Given the description of an element on the screen output the (x, y) to click on. 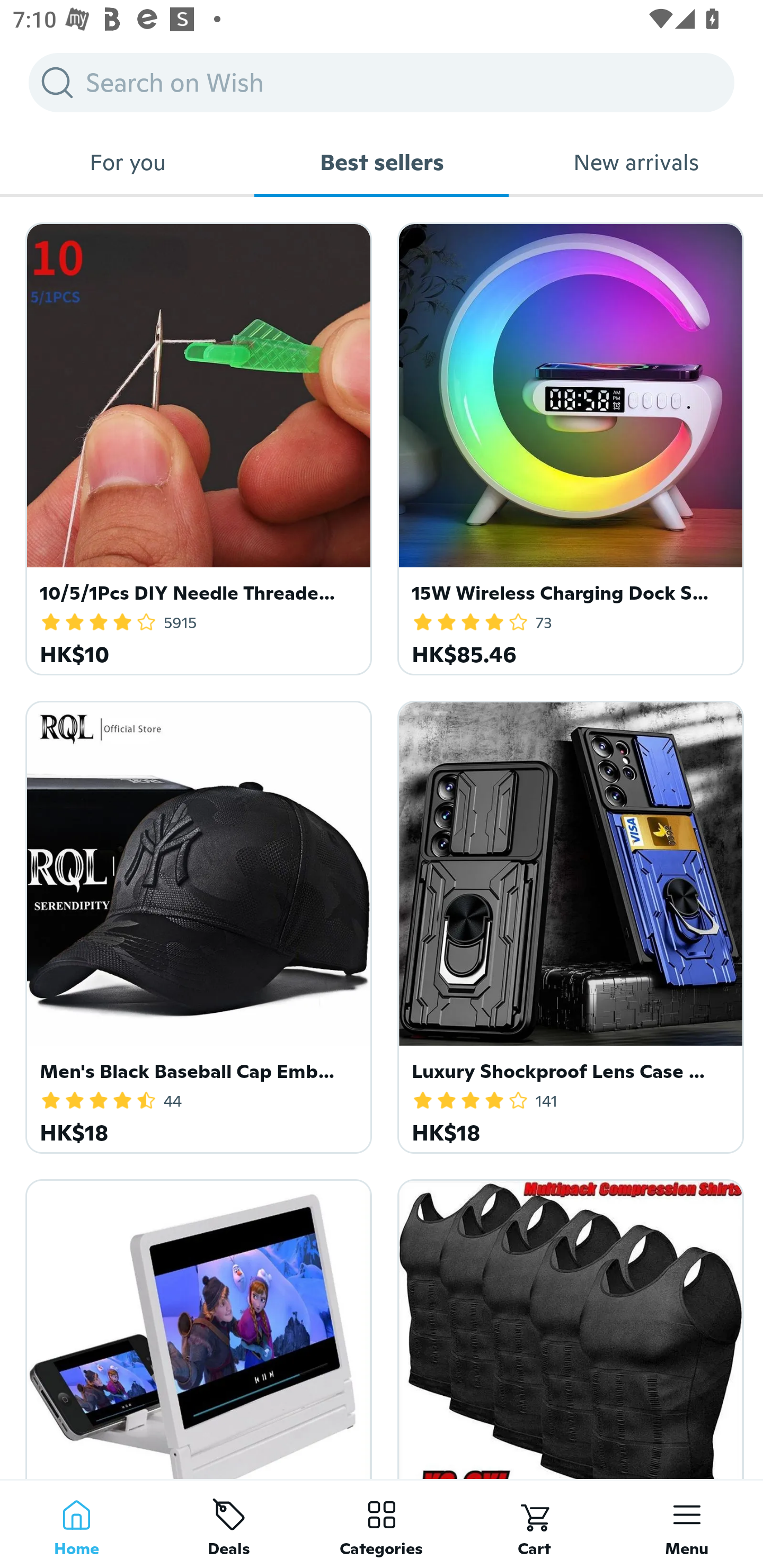
Search on Wish (381, 82)
For you (127, 161)
Best sellers (381, 161)
New arrivals (635, 161)
Home (76, 1523)
Deals (228, 1523)
Categories (381, 1523)
Cart (533, 1523)
Menu (686, 1523)
